Given the description of an element on the screen output the (x, y) to click on. 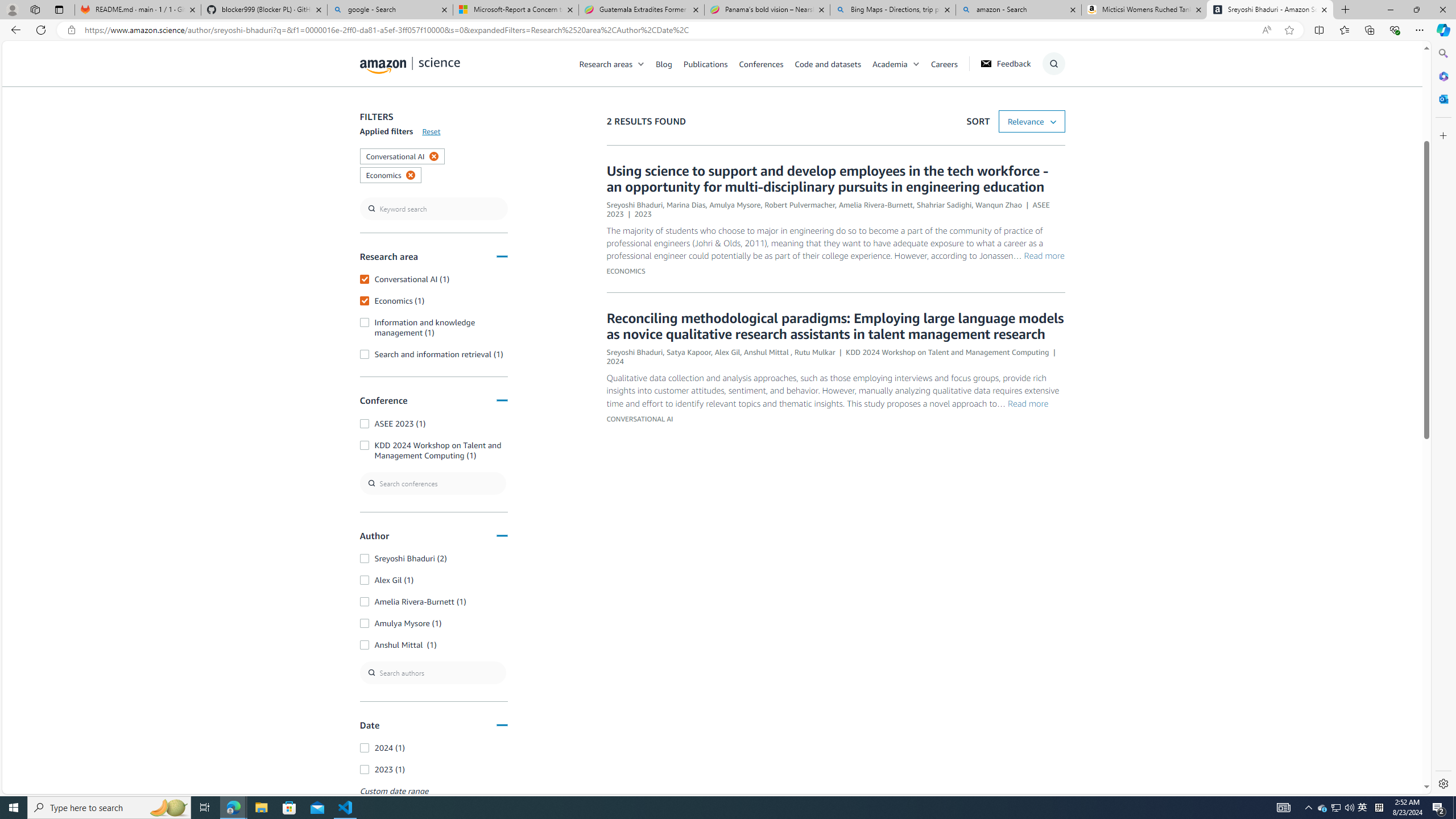
Show Search Form (1053, 63)
Careers (949, 63)
Academia (889, 63)
Publications (710, 63)
Search conferences (432, 482)
Search authors (432, 672)
